Given the description of an element on the screen output the (x, y) to click on. 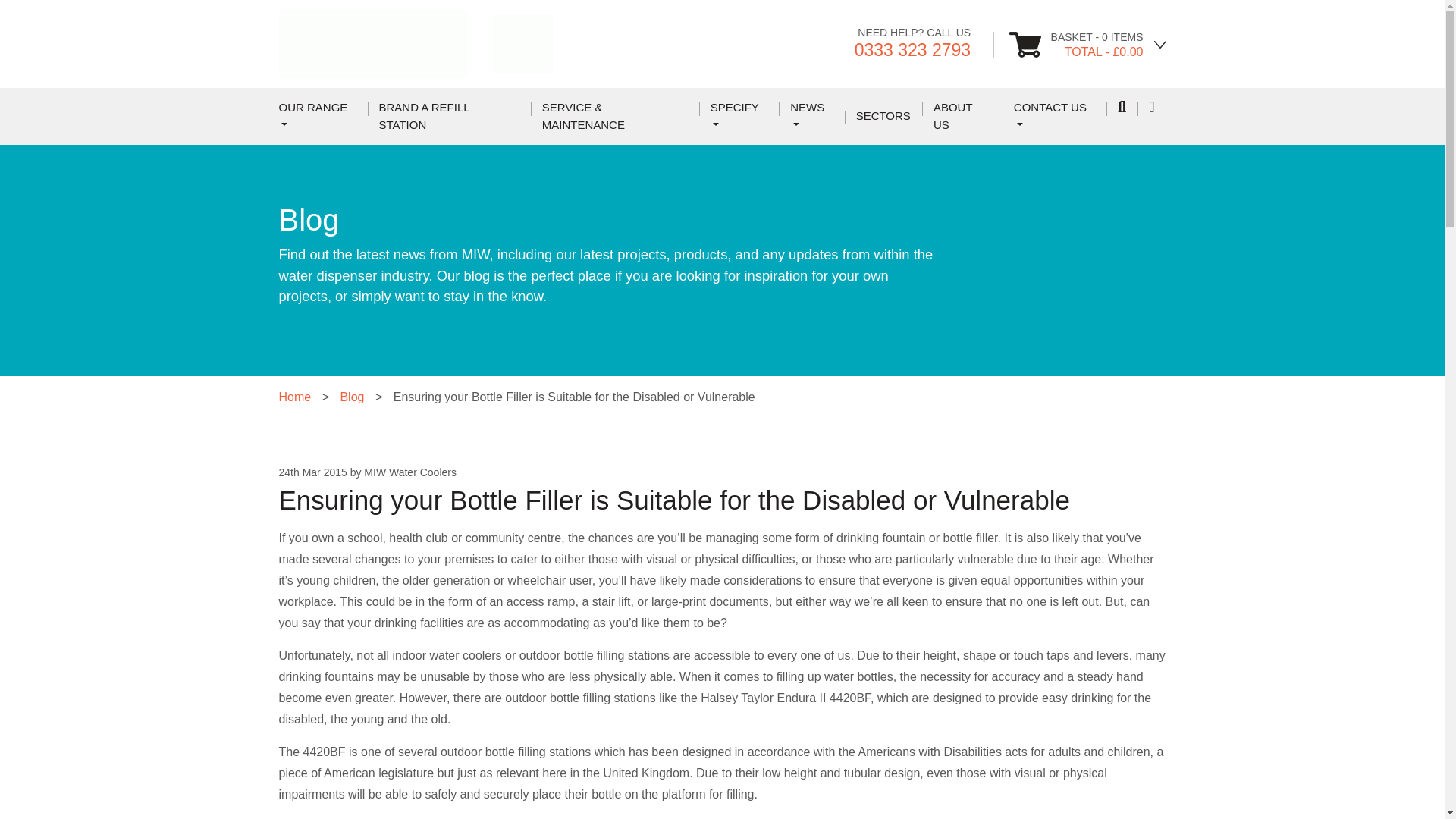
OUR RANGE (317, 116)
SPECIFY (739, 116)
0333 323 2793 (912, 48)
BRAND A REFILL STATION (448, 116)
